Given the description of an element on the screen output the (x, y) to click on. 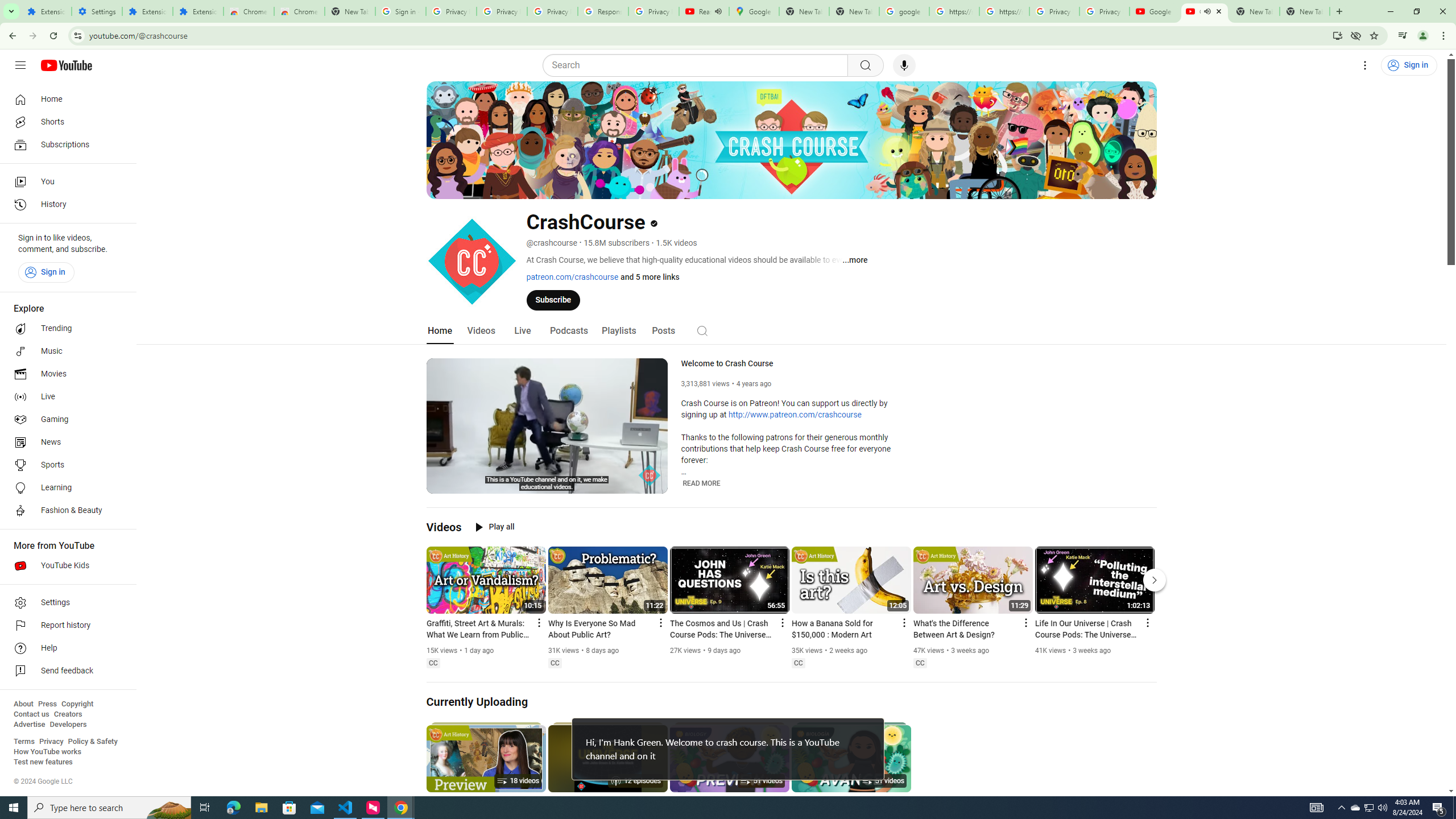
Fashion & Beauty (64, 510)
Send feedback (64, 671)
Report history (64, 625)
Videos (481, 330)
Home (440, 330)
Search with your voice (903, 65)
Mute (m) (463, 483)
Movies (64, 373)
Seek slider (546, 471)
New Tab (350, 11)
